Given the description of an element on the screen output the (x, y) to click on. 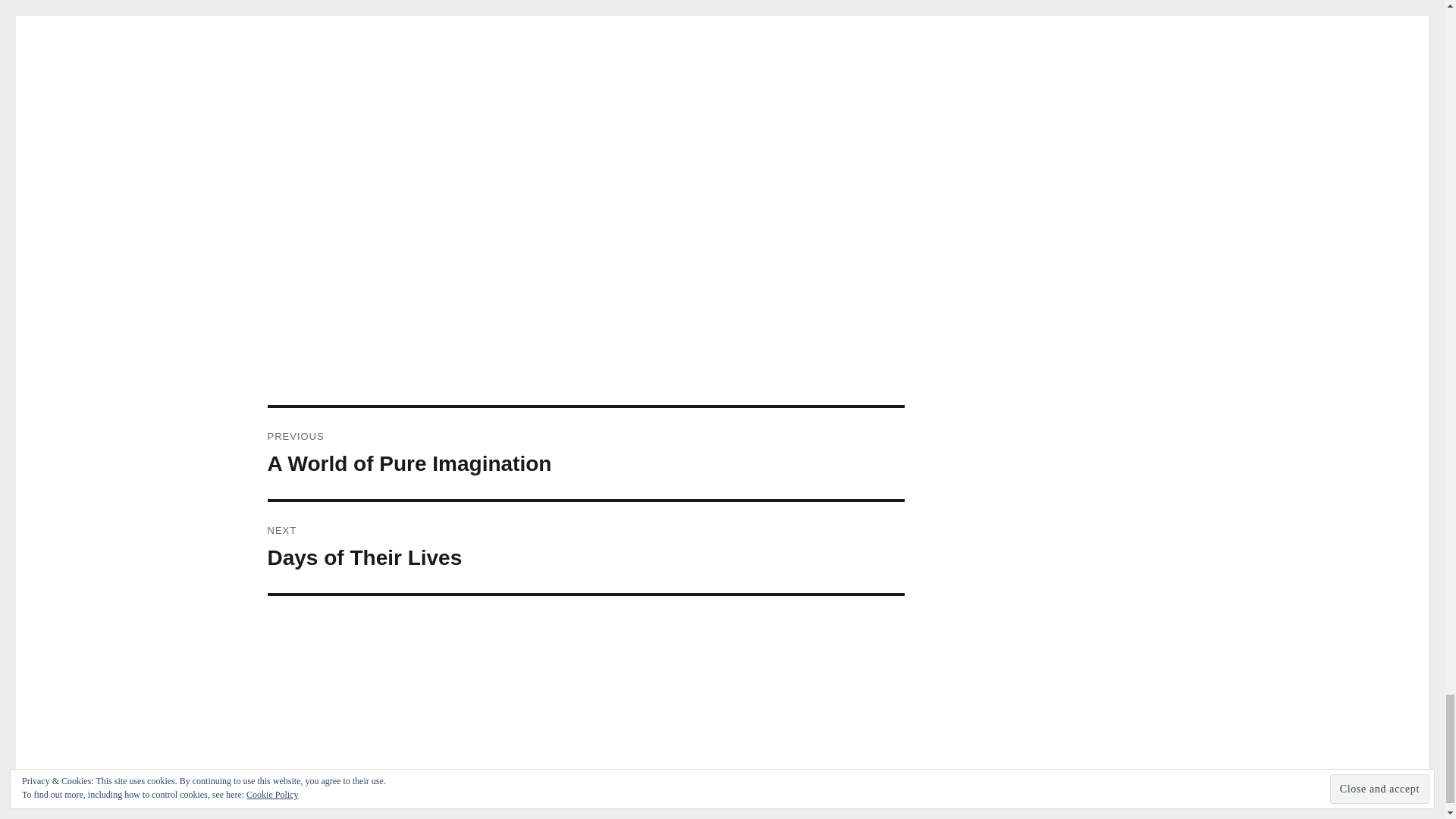
Comment Form (585, 547)
